Given the description of an element on the screen output the (x, y) to click on. 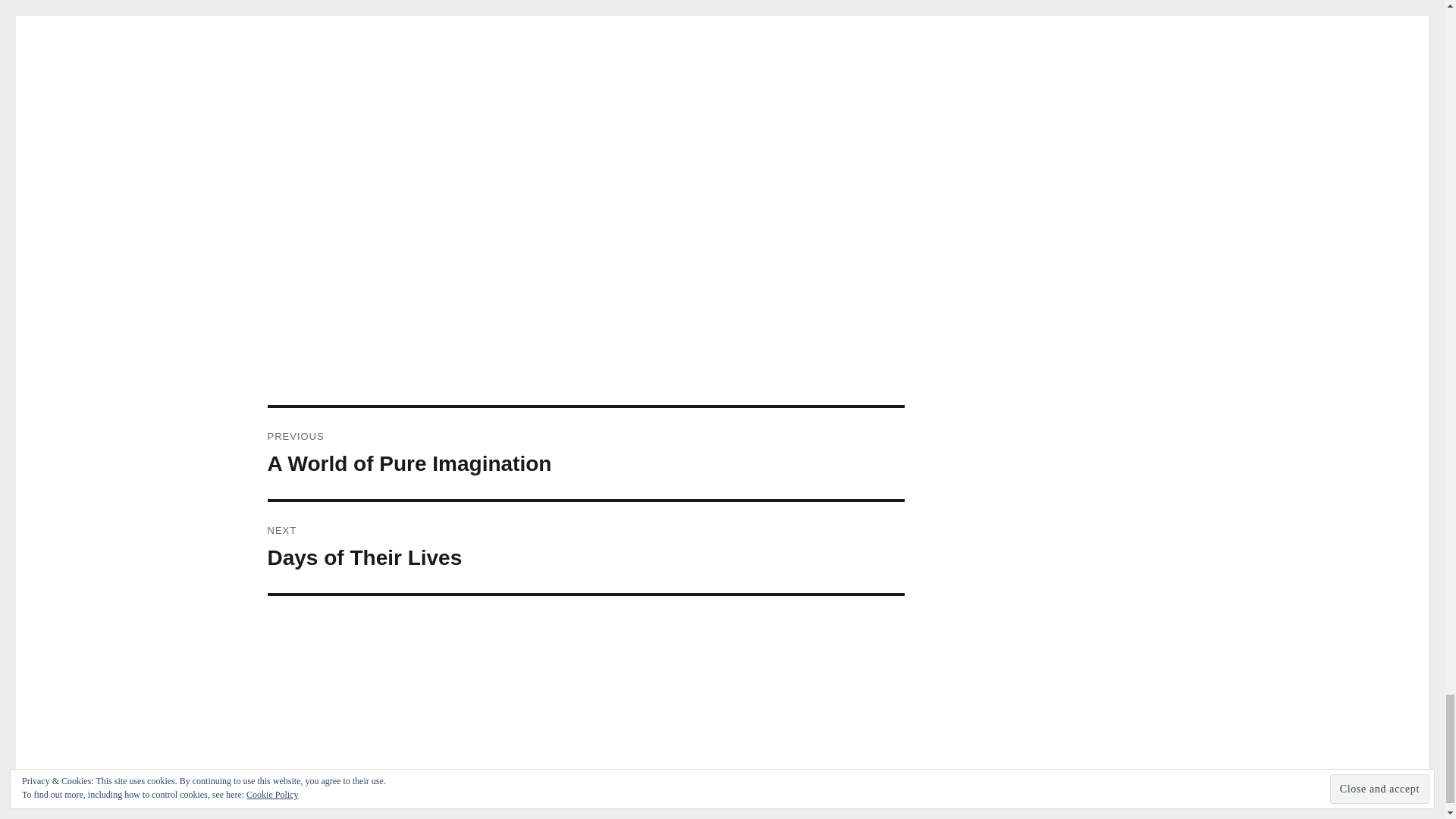
Comment Form (585, 547)
